Given the description of an element on the screen output the (x, y) to click on. 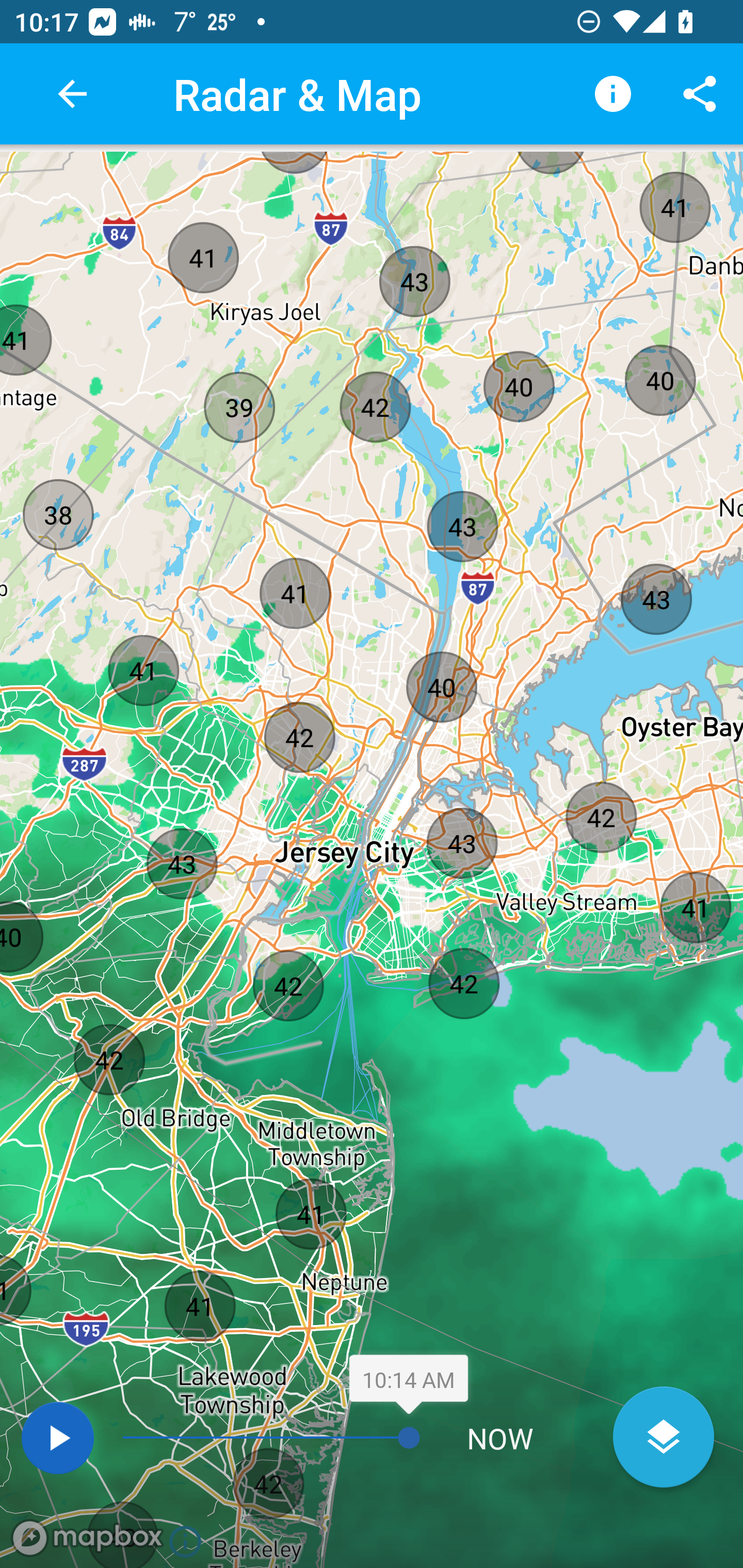
back (71, 93)
Legend (612, 93)
Share (699, 93)
Open layers menu. (663, 1437)
Play map layers animation. (57, 1437)
